Given the description of an element on the screen output the (x, y) to click on. 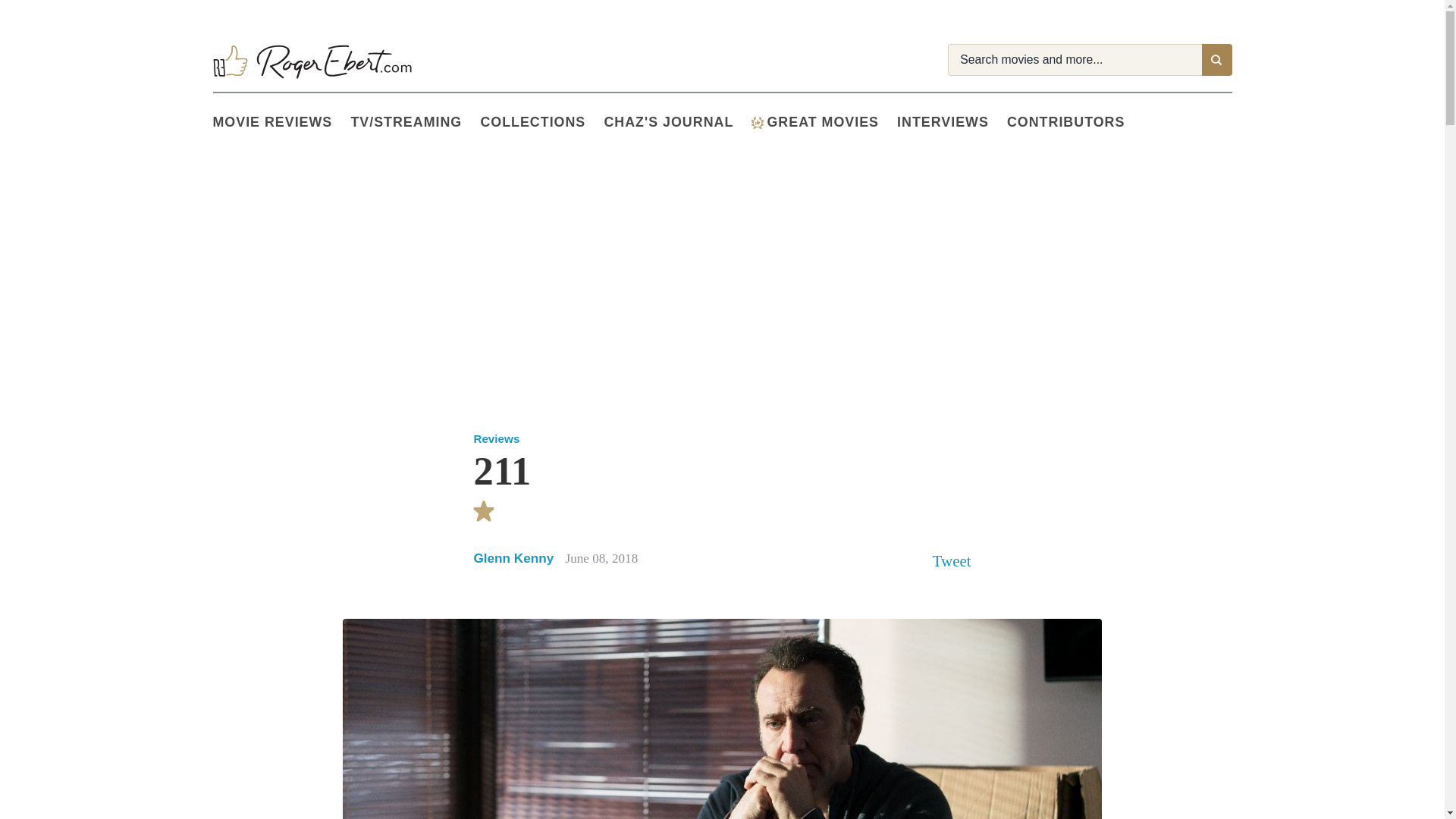
Movie Reviews (281, 122)
Glenn Kenny (513, 557)
Tweet (952, 561)
Collections (542, 122)
Great Movies (823, 122)
CONTRIBUTORS (1074, 122)
star-full (484, 511)
GREAT MOVIES (823, 122)
INTERVIEWS (951, 122)
Interviews (951, 122)
CHAZ'S JOURNAL (677, 122)
Contributors (1074, 122)
Chaz's Journal (677, 122)
Search (1216, 60)
Reviews (496, 438)
